Given the description of an element on the screen output the (x, y) to click on. 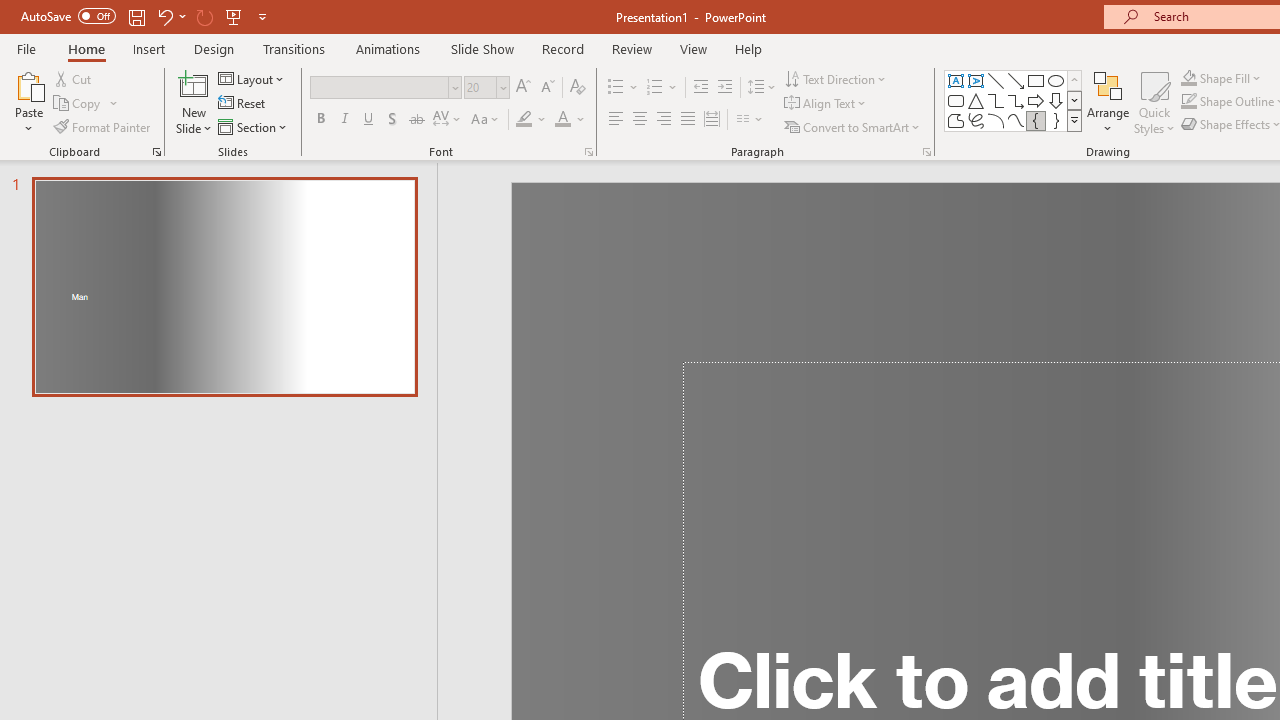
Justify (687, 119)
Underline (369, 119)
Line Arrow (1016, 80)
Freeform: Shape (955, 120)
Format Painter (103, 126)
Italic (344, 119)
Decrease Font Size (547, 87)
Text Direction (836, 78)
